Given the description of an element on the screen output the (x, y) to click on. 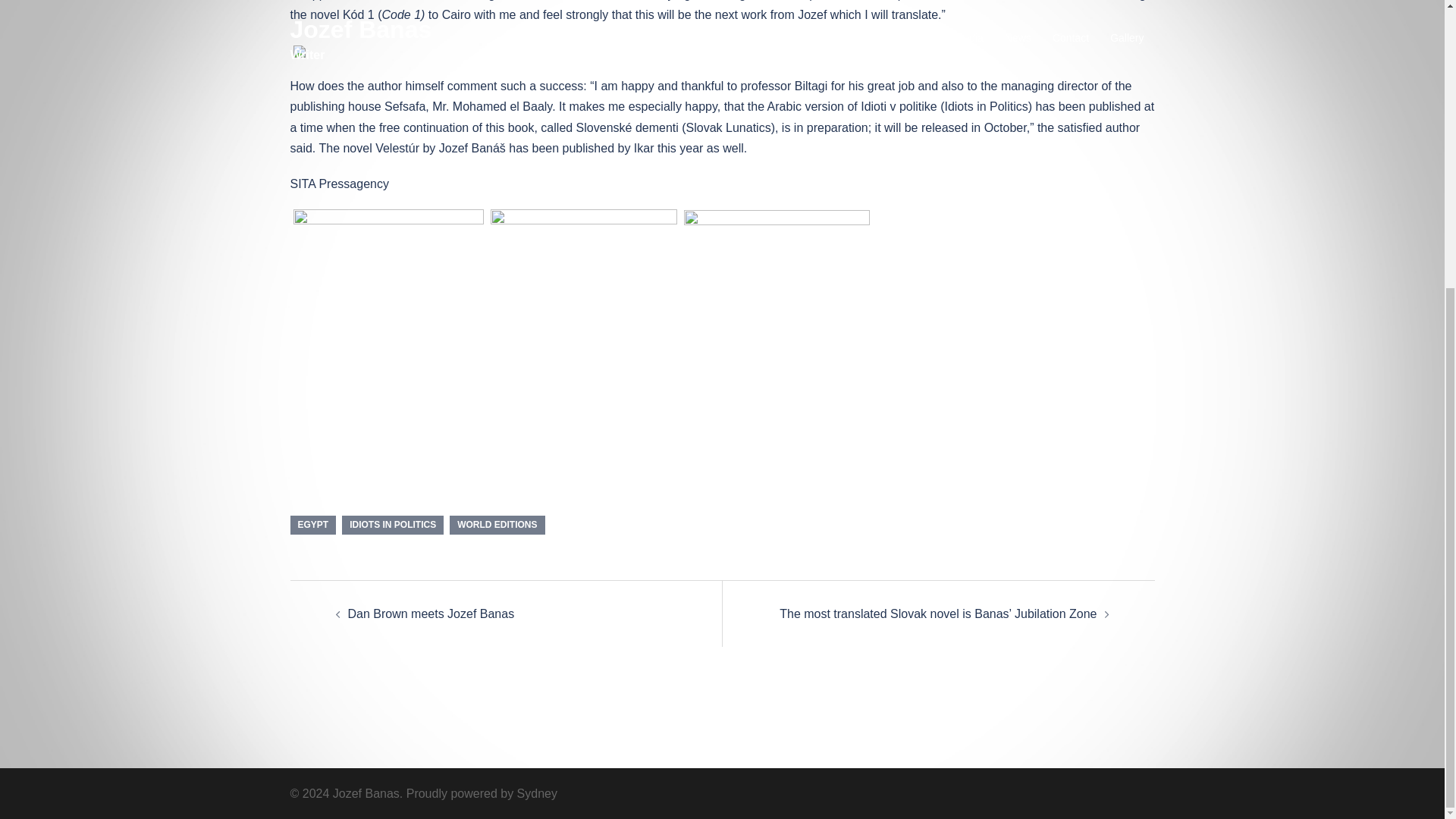
IDIOTS IN POLITICS (393, 524)
WORLD EDITIONS (496, 524)
EGYPT (312, 524)
Dan Brown meets Jozef Banas (430, 613)
Sydney (536, 793)
